Given the description of an element on the screen output the (x, y) to click on. 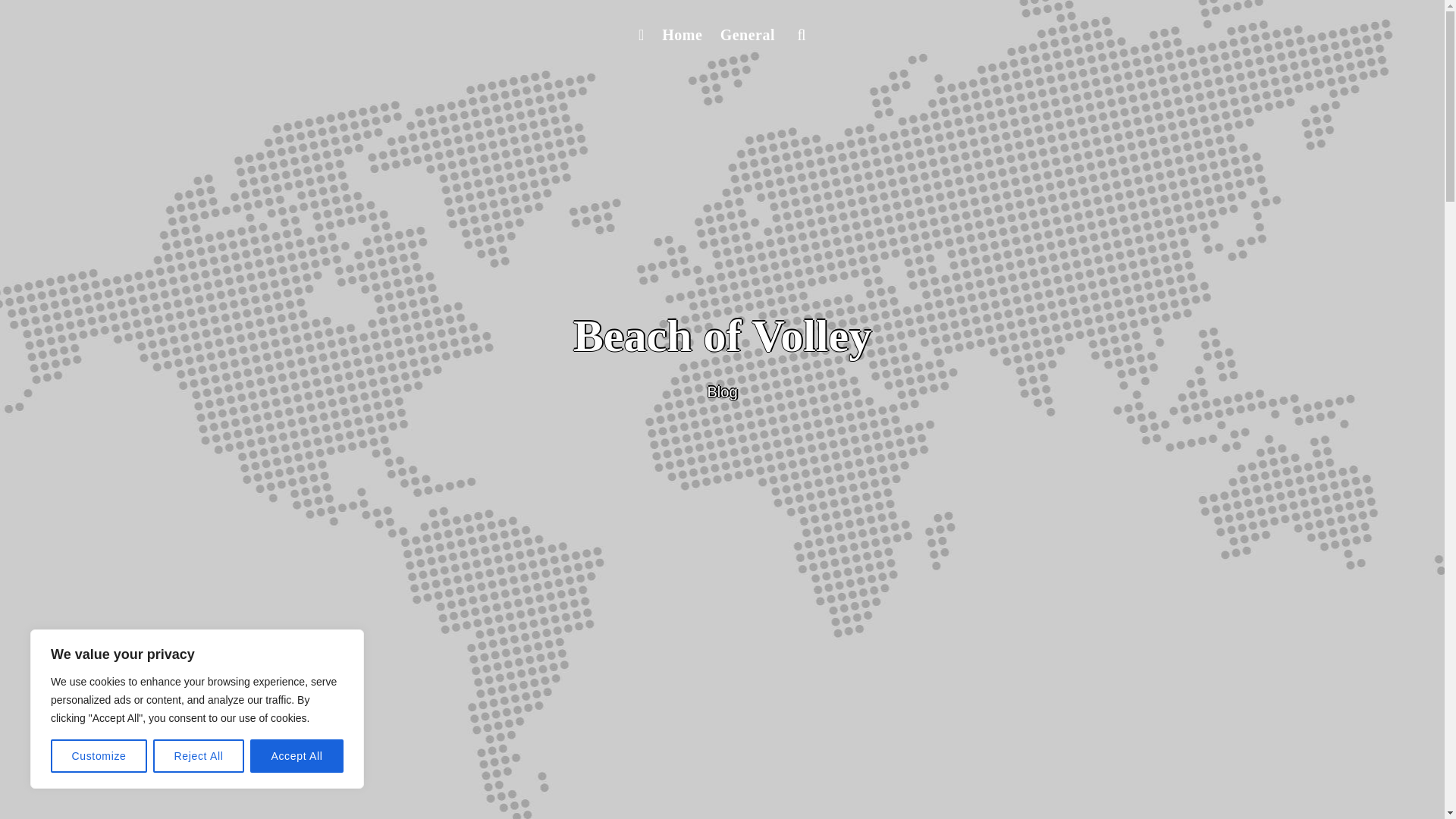
General (747, 35)
Accept All (296, 756)
Home (681, 35)
Customize (98, 756)
Reject All (198, 756)
Beach of Volley (721, 336)
